Given the description of an element on the screen output the (x, y) to click on. 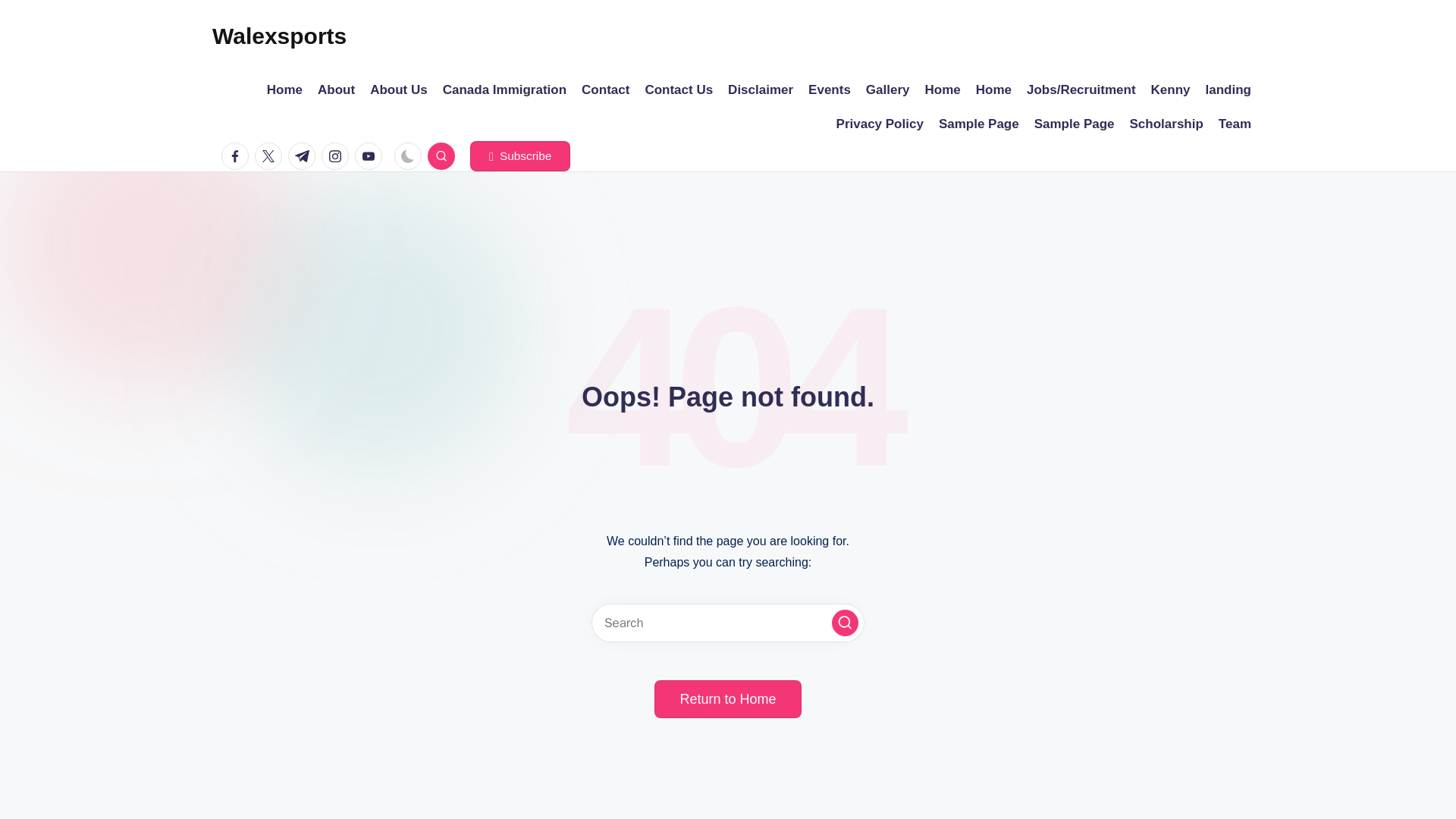
t.me (304, 155)
youtube.com (371, 155)
Contact (604, 89)
Events (829, 89)
Kenny (1171, 89)
Walexsports (279, 36)
About (336, 89)
Canada Immigration (504, 89)
facebook.com (237, 155)
About Us (398, 89)
